Given the description of an element on the screen output the (x, y) to click on. 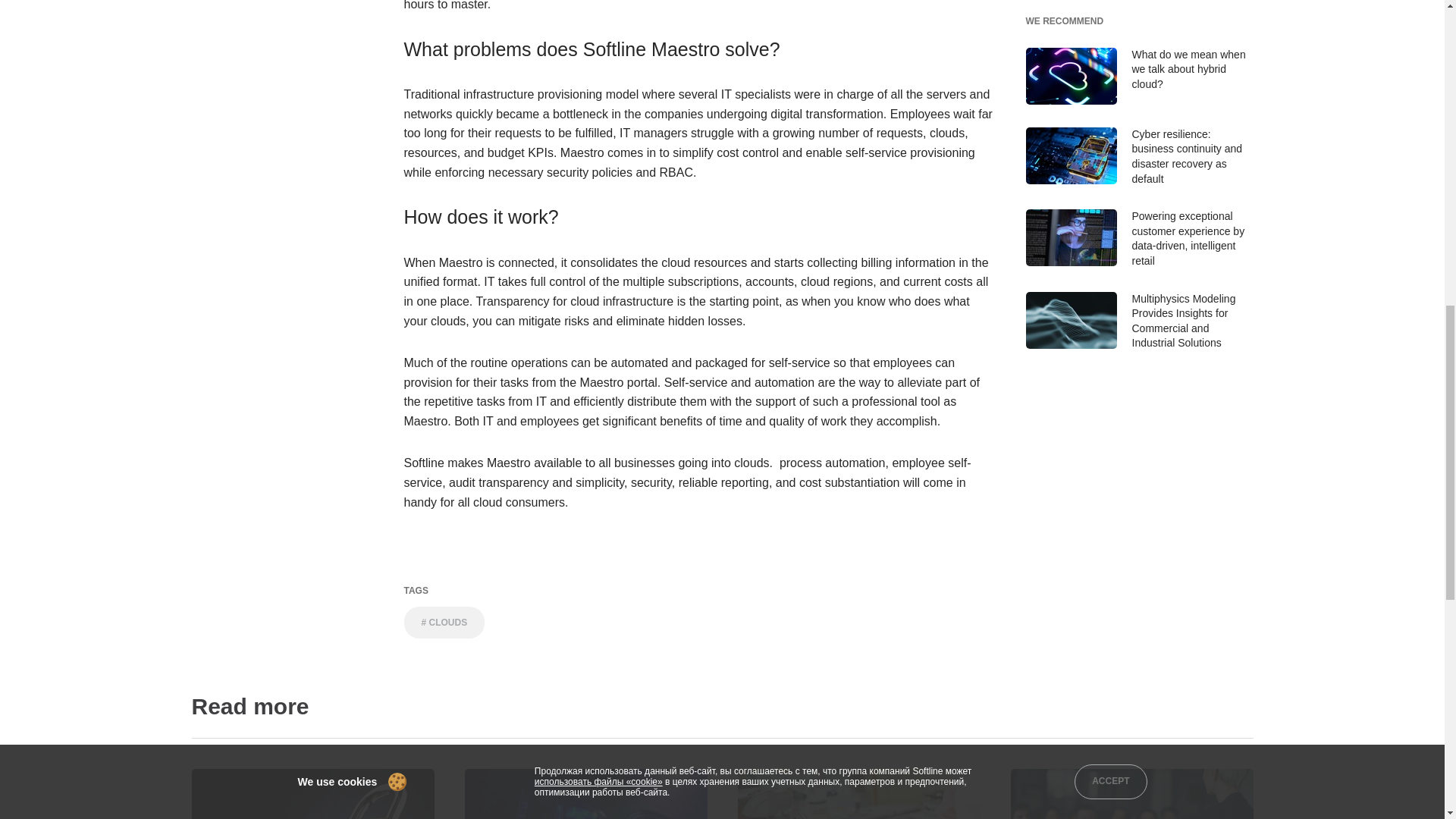
CLOUDS (443, 622)
